Given the description of an element on the screen output the (x, y) to click on. 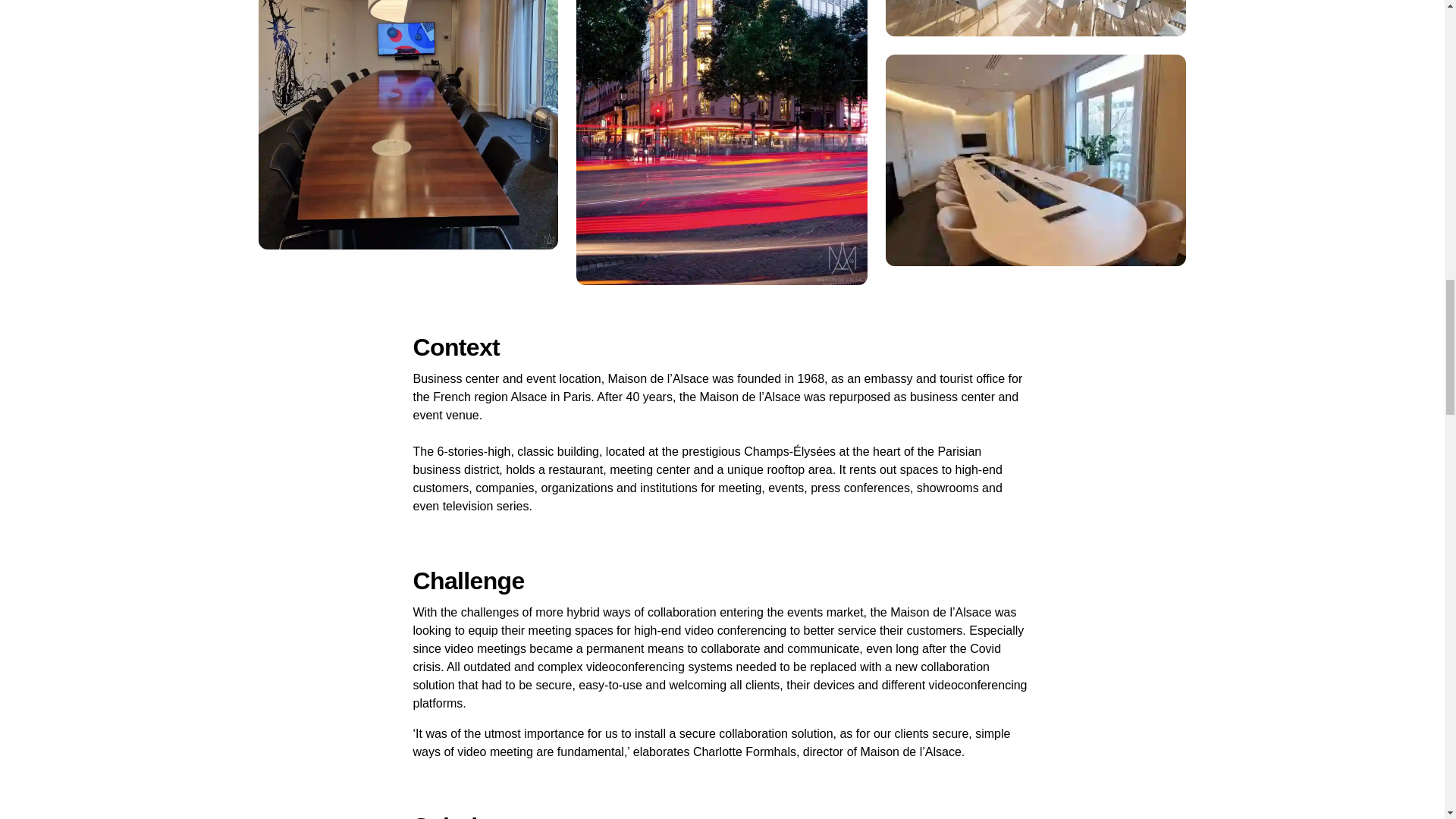
Salle-21-22-1-369fd0c0 (1035, 160)
Rooftop-slide-1 (1035, 18)
